Given the description of an element on the screen output the (x, y) to click on. 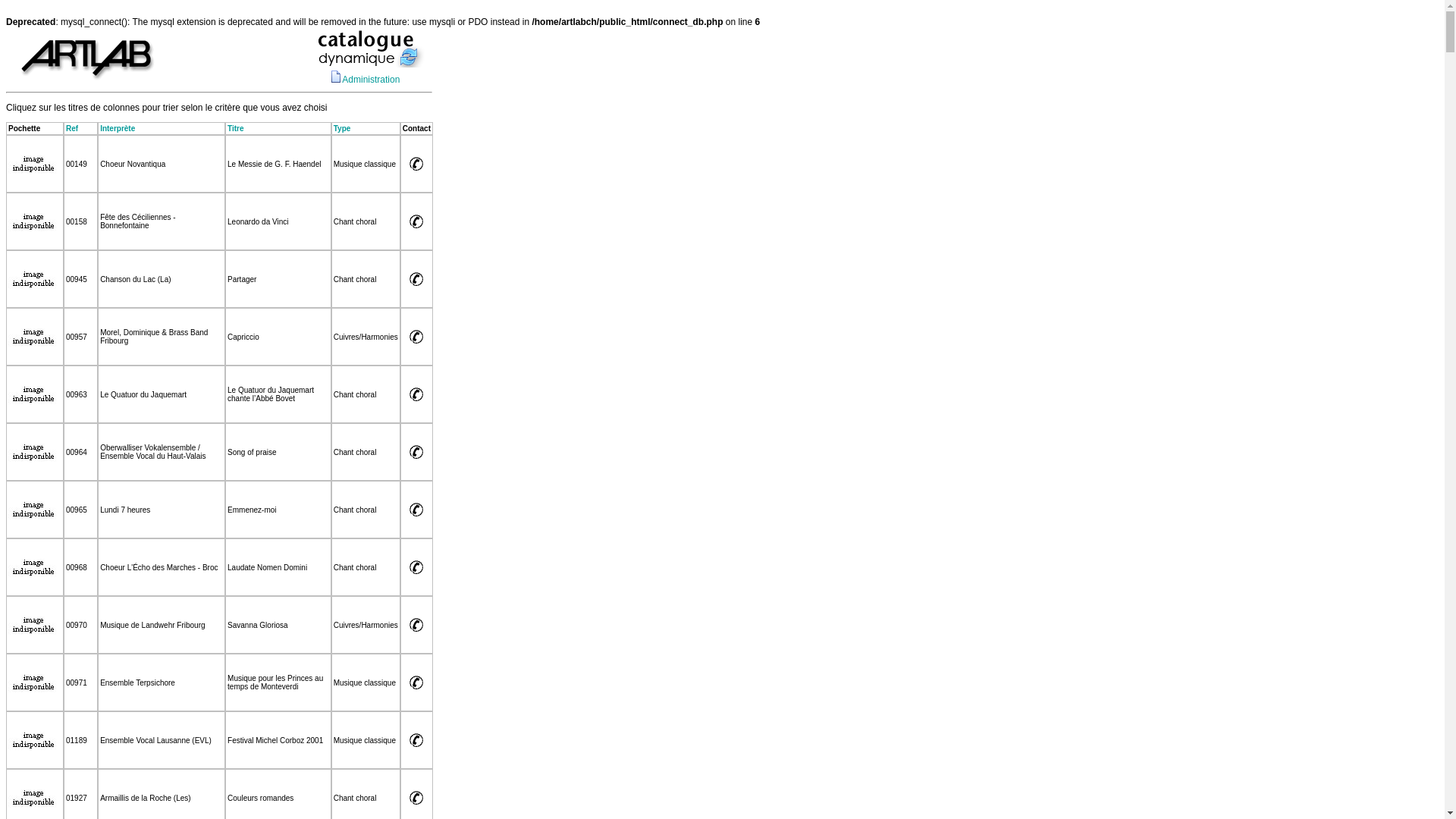
Administration Element type: text (370, 79)
Ref Element type: text (71, 128)
Type Element type: text (342, 128)
Titre Element type: text (235, 128)
